Given the description of an element on the screen output the (x, y) to click on. 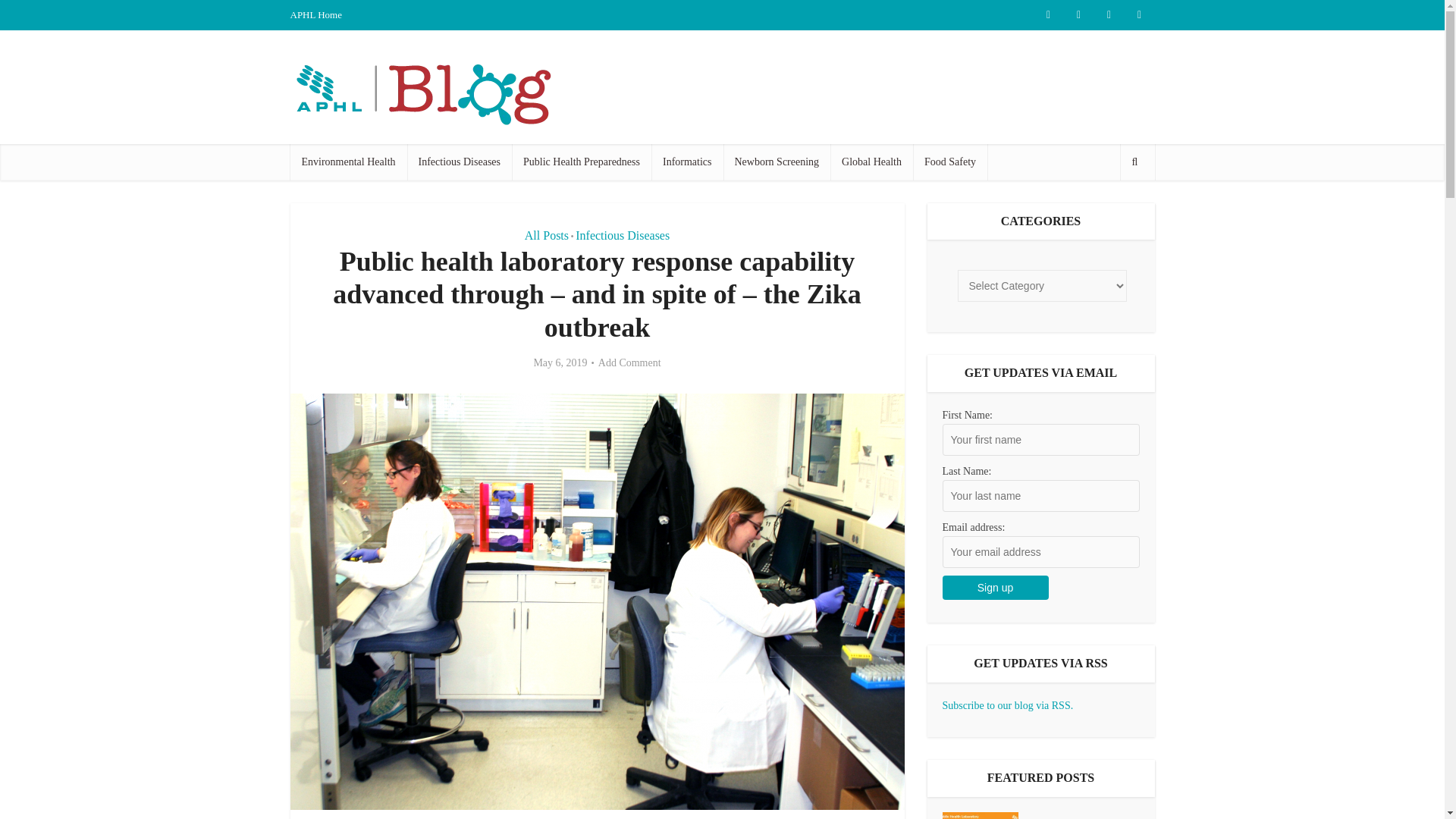
Infectious Diseases (622, 235)
Global Health (870, 162)
Food Safety (949, 162)
Public Health Preparedness (581, 162)
read our latest tweets (1047, 15)
Add Comment (629, 363)
Infectious Diseases (459, 162)
Informatics (686, 162)
Environmental Health (347, 162)
visit us on facebook (1077, 15)
